Given the description of an element on the screen output the (x, y) to click on. 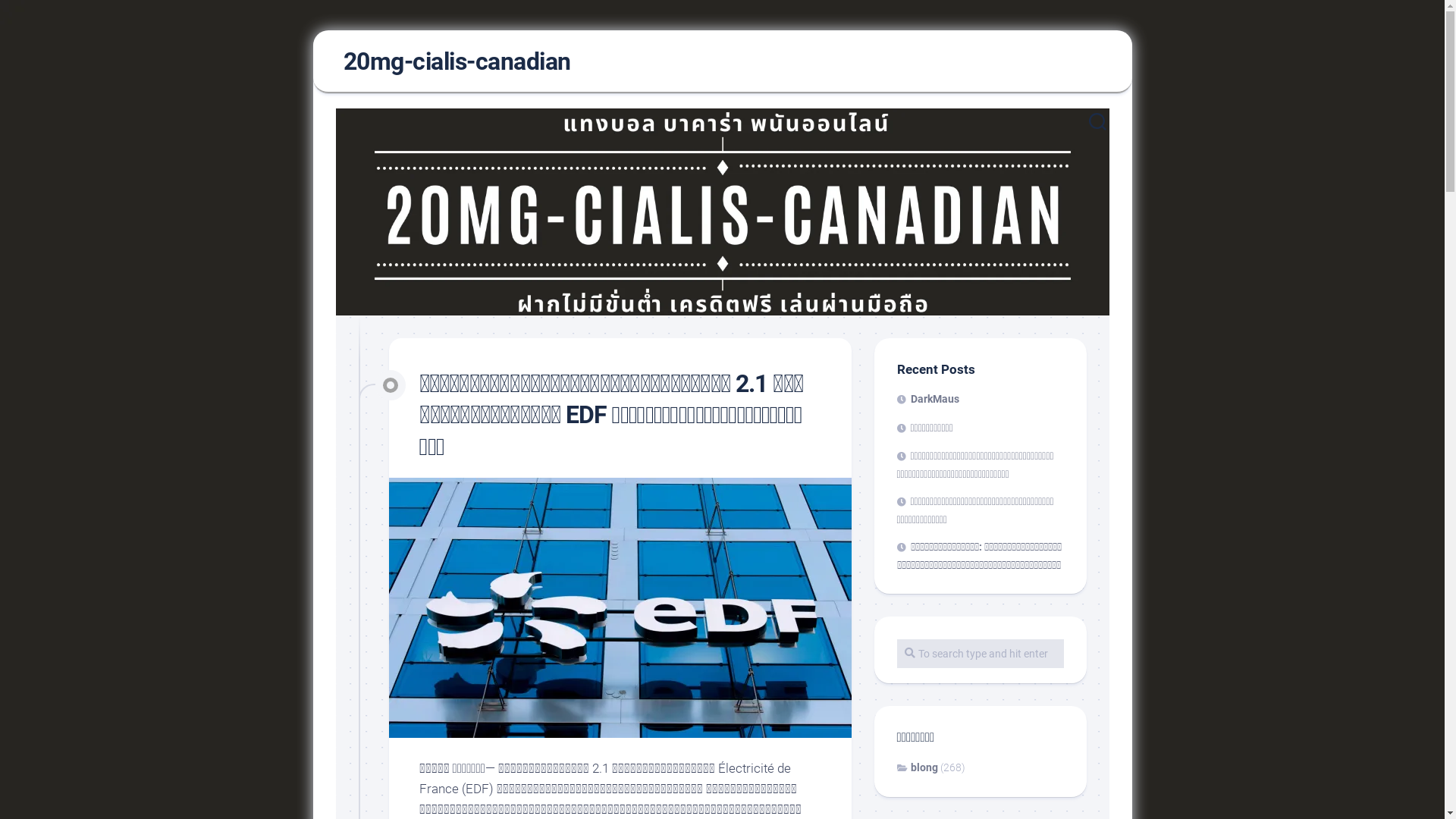
DarkMaus Element type: text (927, 398)
blong Element type: text (916, 767)
20mg-cialis-canadian Element type: text (456, 61)
